Given the description of an element on the screen output the (x, y) to click on. 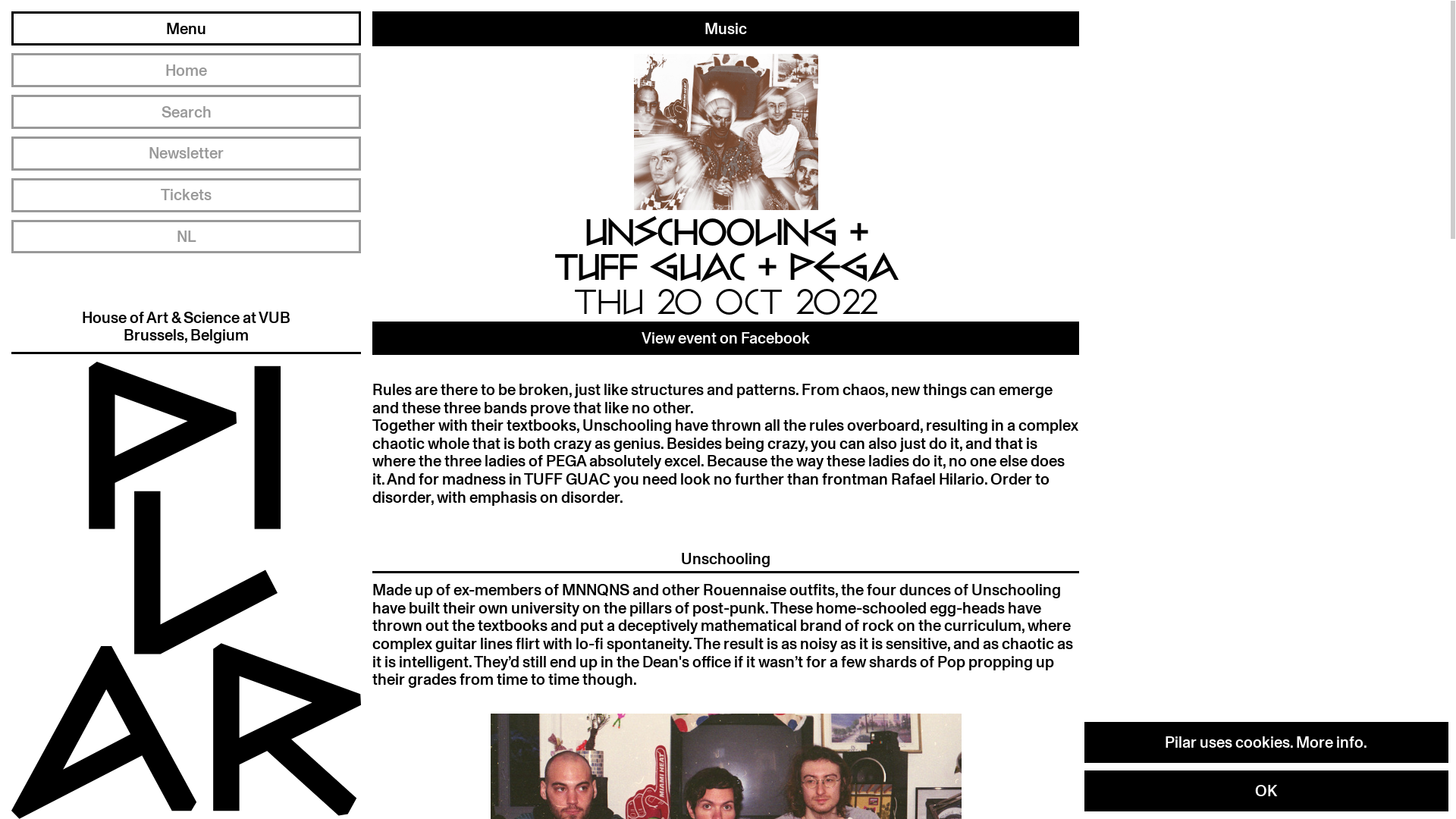
Tickets Element type: text (185, 195)
Menu Element type: text (185, 28)
OK Element type: text (1266, 790)
View event on Facebook Element type: text (725, 338)
NL Element type: text (185, 236)
Search Element type: text (185, 111)
More info Element type: text (1329, 741)
Newsletter Element type: text (185, 153)
Home Element type: text (185, 70)
